Given the description of an element on the screen output the (x, y) to click on. 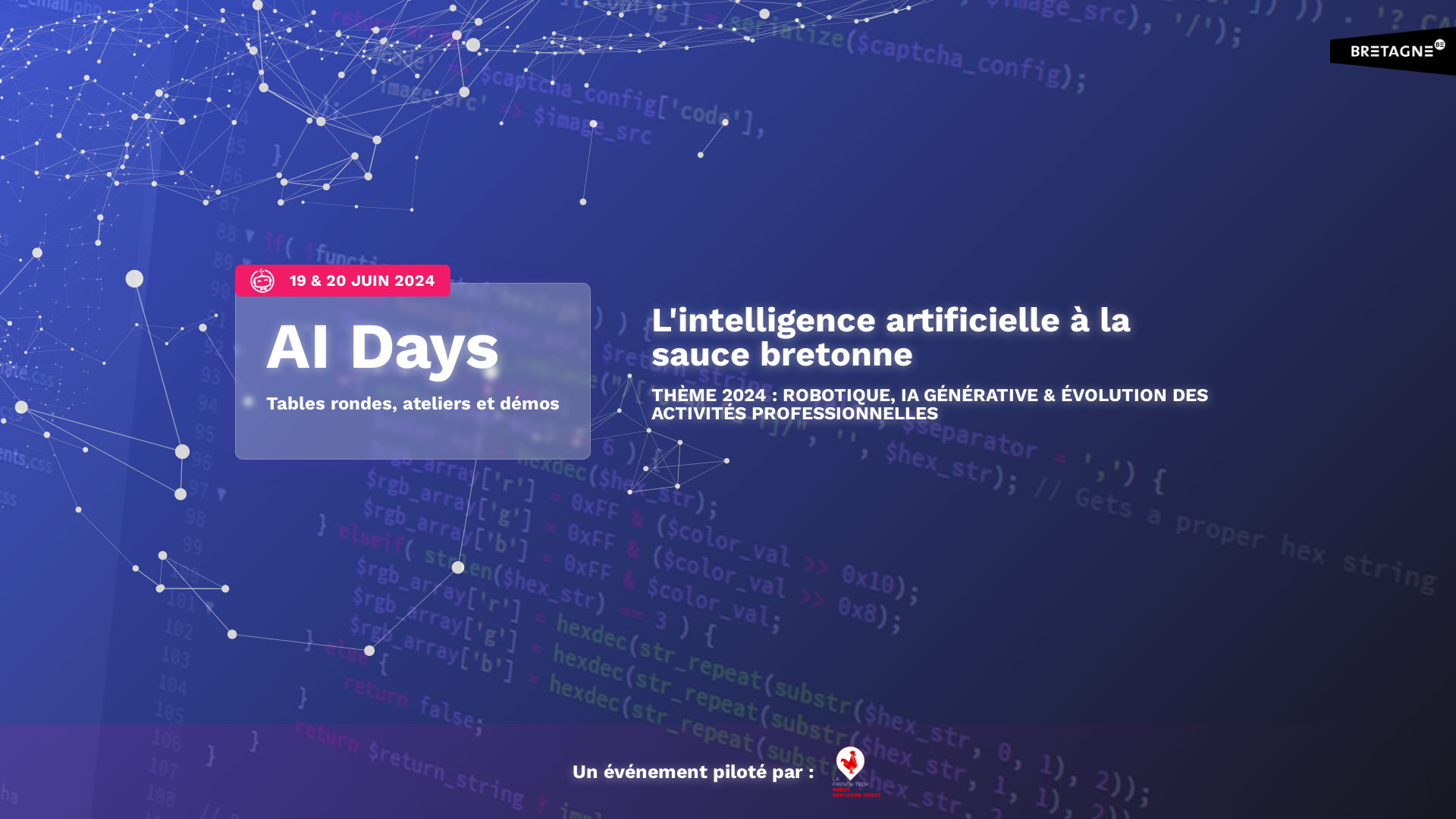
Aller au contenu principal Element type: text (0, 0)
